Given the description of an element on the screen output the (x, y) to click on. 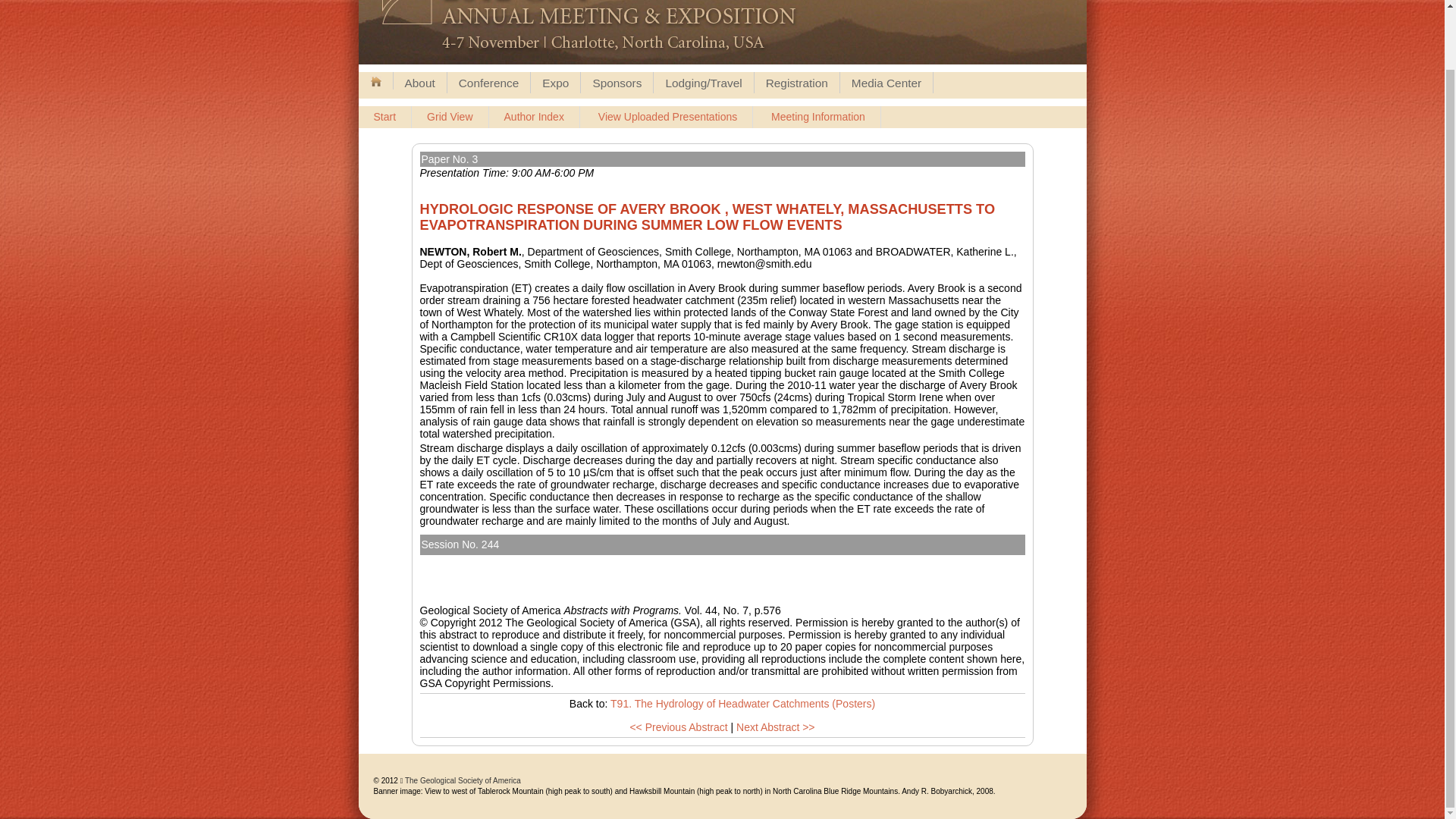
Registration (797, 82)
Sponsors (616, 82)
Start (385, 117)
Grid View (449, 117)
Expo (555, 82)
Conference (488, 82)
About (419, 82)
View Uploaded Presentations (667, 117)
The Geological Society of America (462, 780)
Author Index (534, 117)
